Given the description of an element on the screen output the (x, y) to click on. 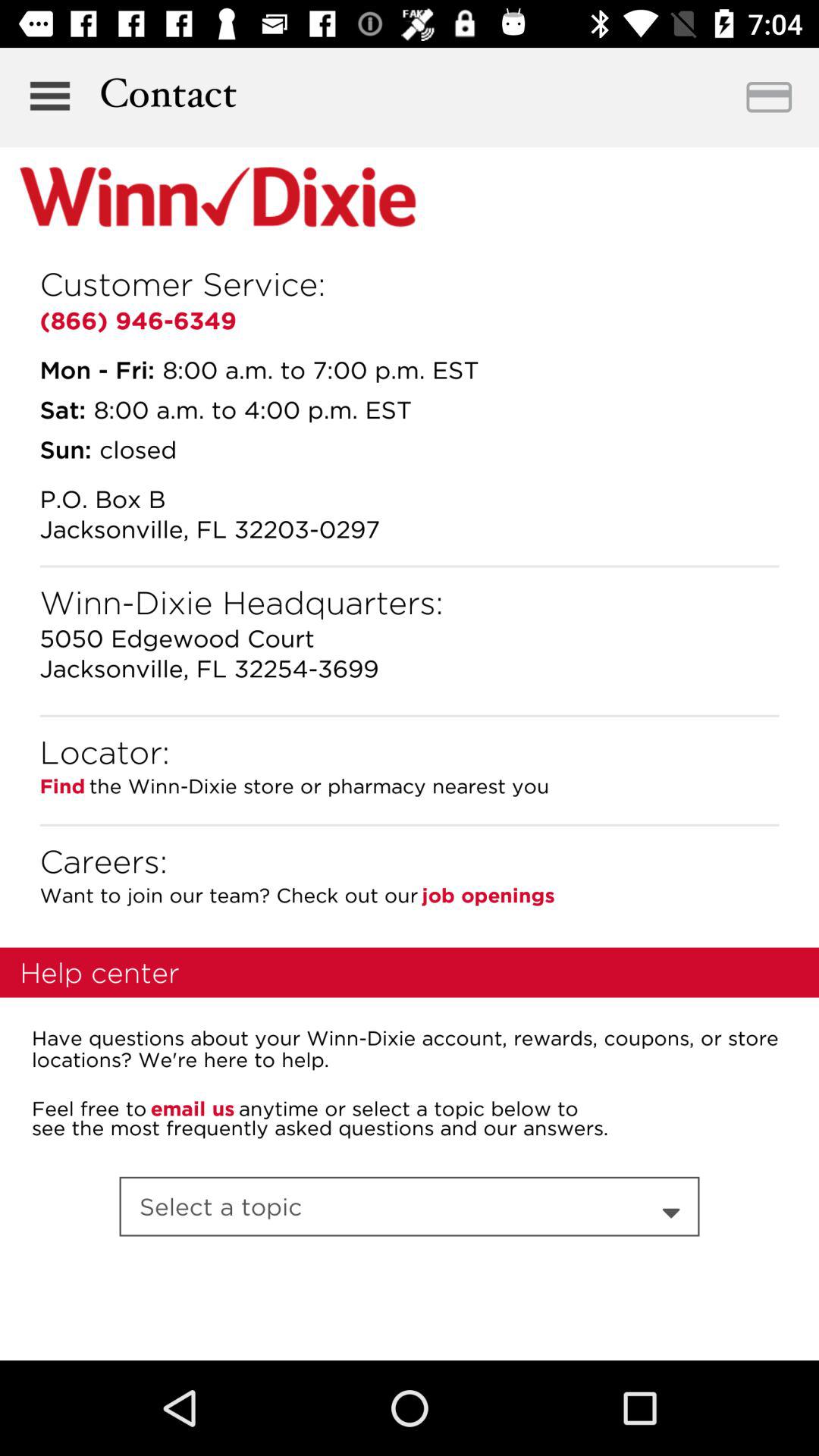
press icon next to job openings (228, 895)
